Given the description of an element on the screen output the (x, y) to click on. 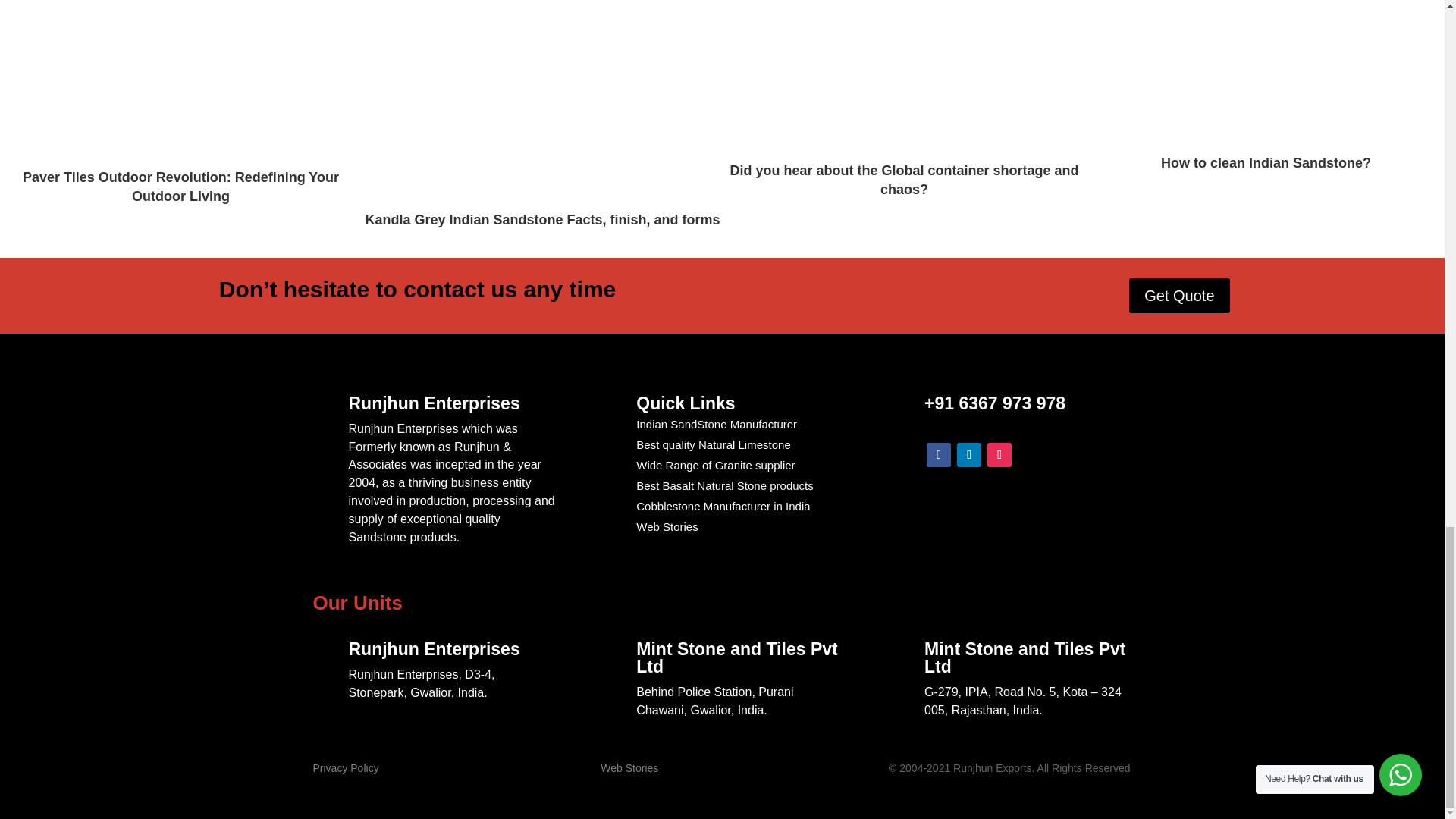
Follow on LinkedIn (968, 454)
Follow on Instagram (999, 454)
Follow on Facebook (938, 454)
